Given the description of an element on the screen output the (x, y) to click on. 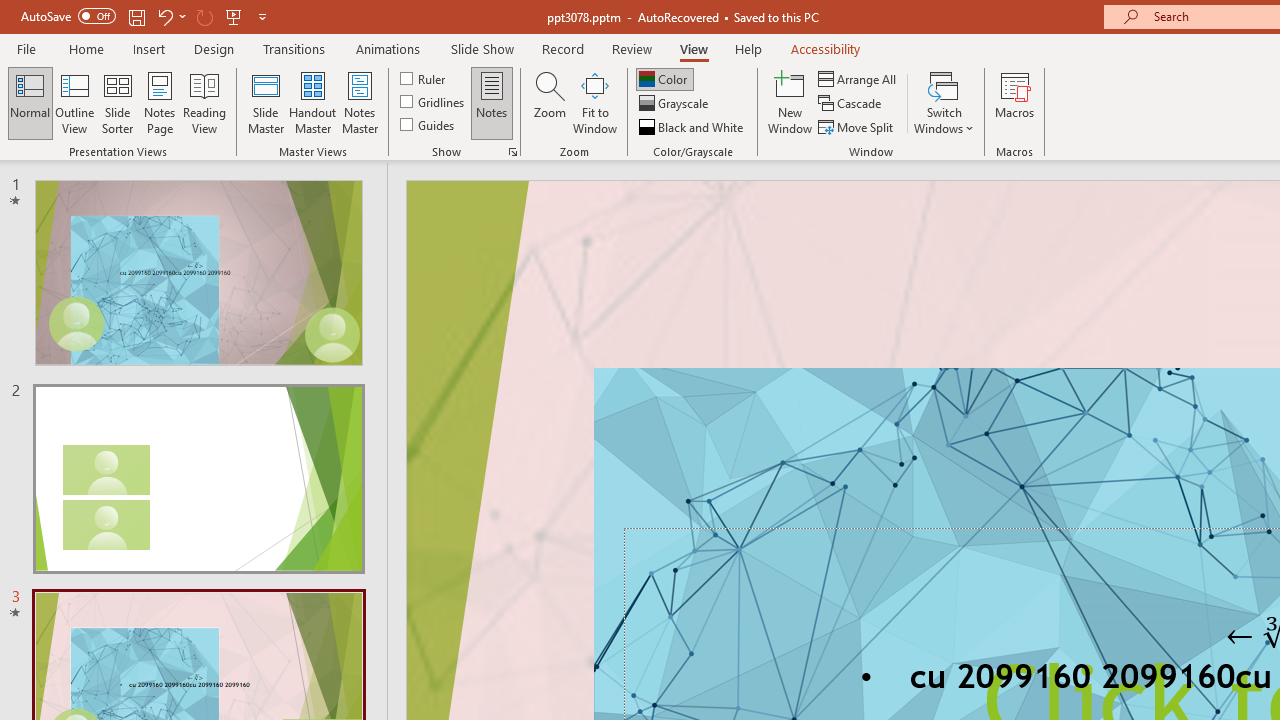
Color (664, 78)
Grid Settings... (512, 151)
New Window (790, 102)
Macros (1014, 102)
Arrange All (858, 78)
